Given the description of an element on the screen output the (x, y) to click on. 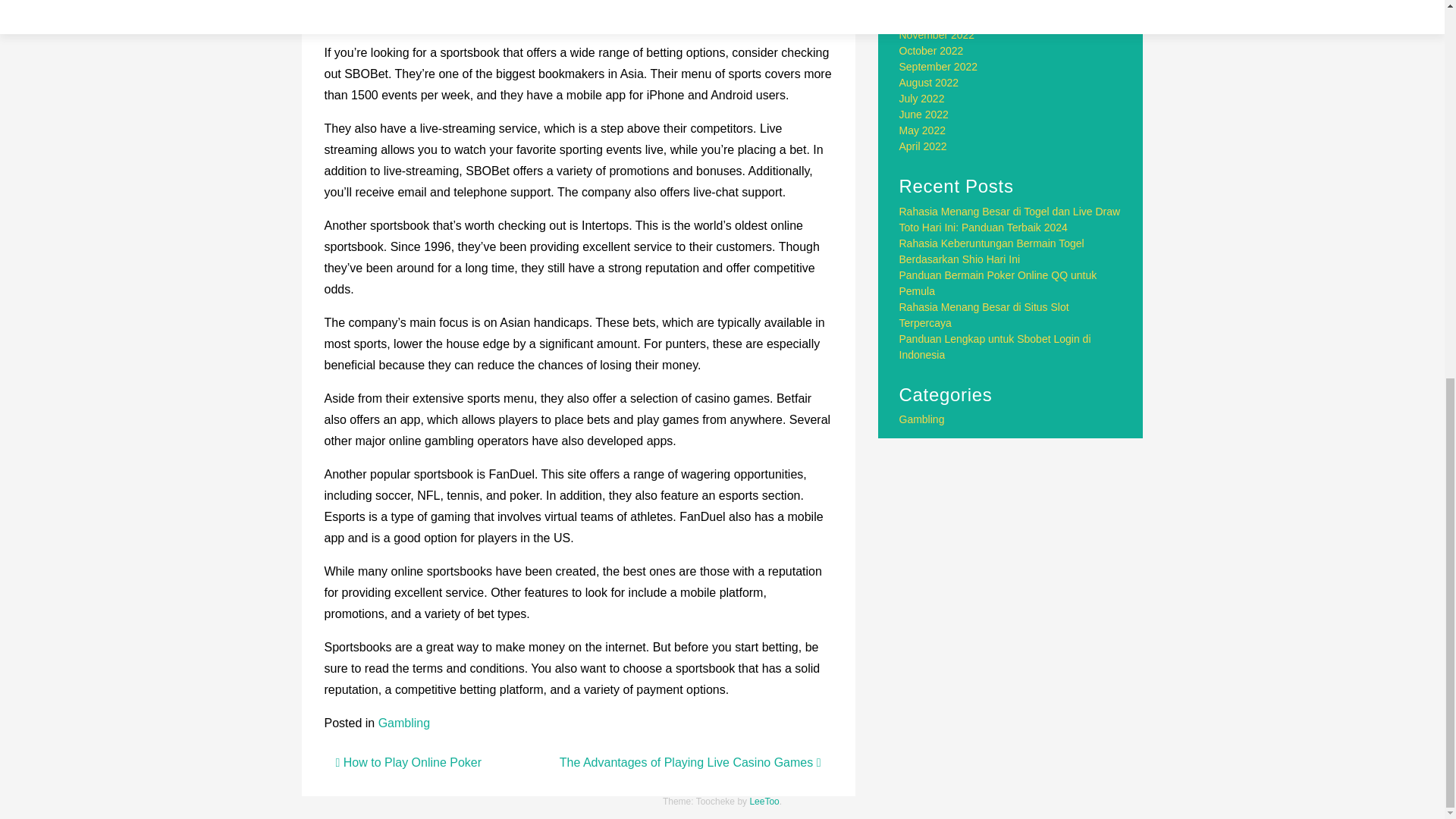
Gambling (403, 722)
June 2022 (924, 114)
October 2022 (931, 50)
The Advantages of Playing Live Casino Games  (690, 762)
April 2022 (923, 146)
Rahasia Menang Besar di Situs Slot Terpercaya (983, 315)
May 2022 (921, 130)
Panduan Bermain Poker Online QQ untuk Pemula (998, 283)
August 2022 (929, 82)
December 2022 (937, 19)
September 2022 (938, 66)
January 2023 (931, 4)
November 2022 (937, 34)
 How to Play Online Poker (407, 762)
